Given the description of an element on the screen output the (x, y) to click on. 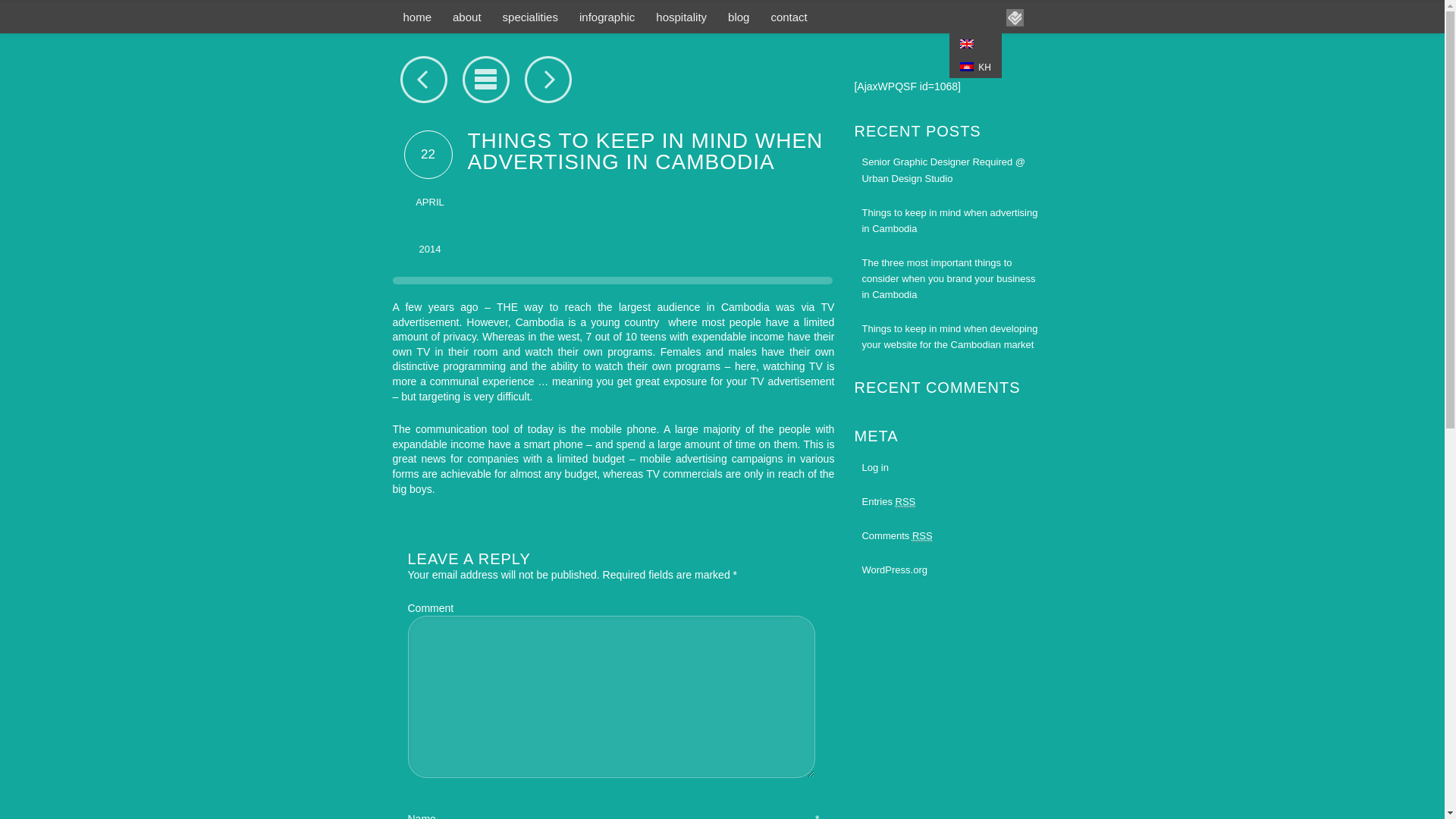
EN (966, 43)
  EN (975, 43)
blog (738, 16)
Really Simple Syndication (922, 535)
contact (788, 16)
specialities (530, 16)
about (467, 16)
  KH (975, 66)
facebook (960, 17)
